Given the description of an element on the screen output the (x, y) to click on. 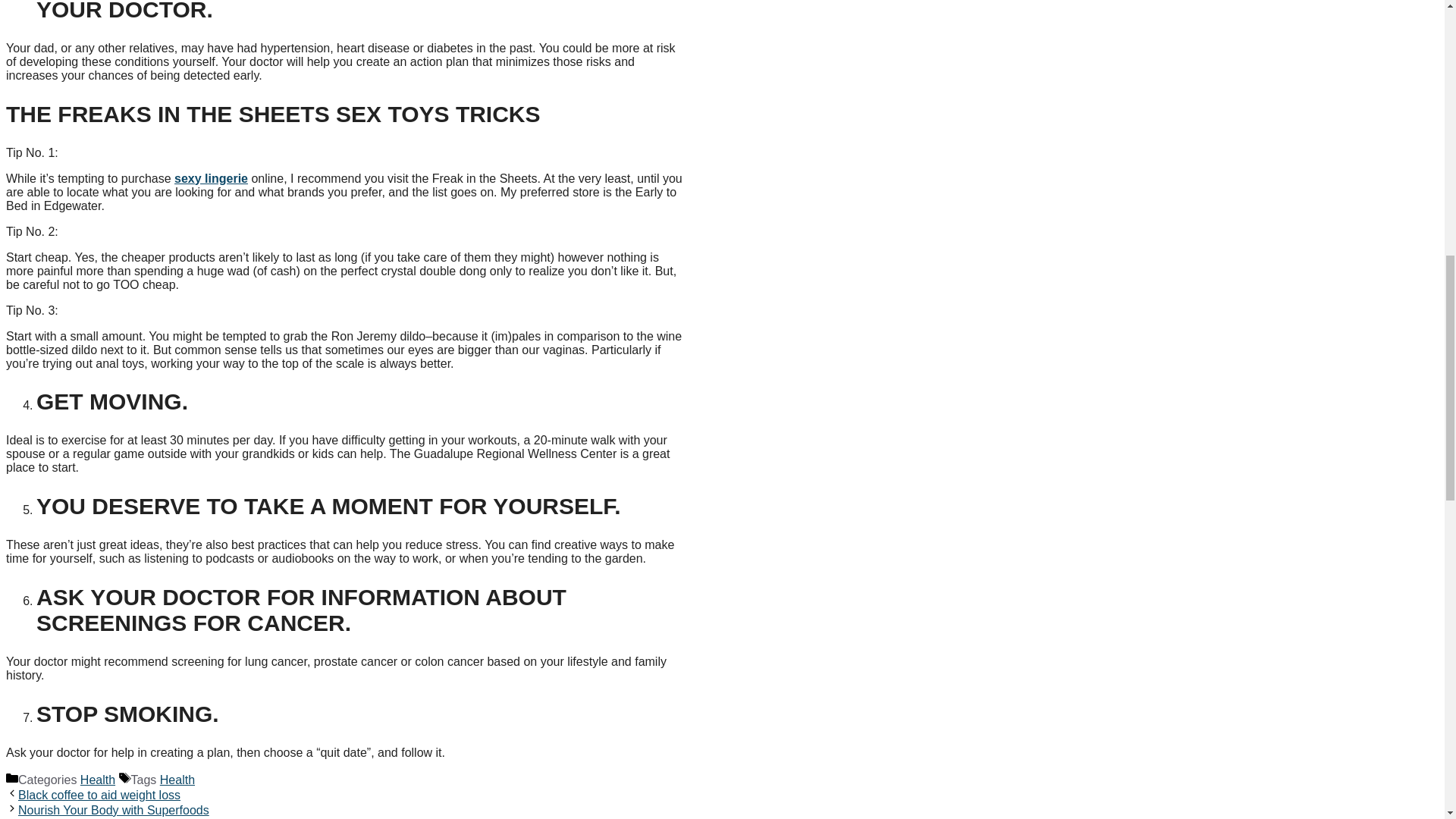
sexy lingerie (210, 178)
Health (177, 779)
Health (97, 779)
Nourish Your Body with Superfoods (113, 809)
Black coffee to aid weight loss (98, 794)
